Given the description of an element on the screen output the (x, y) to click on. 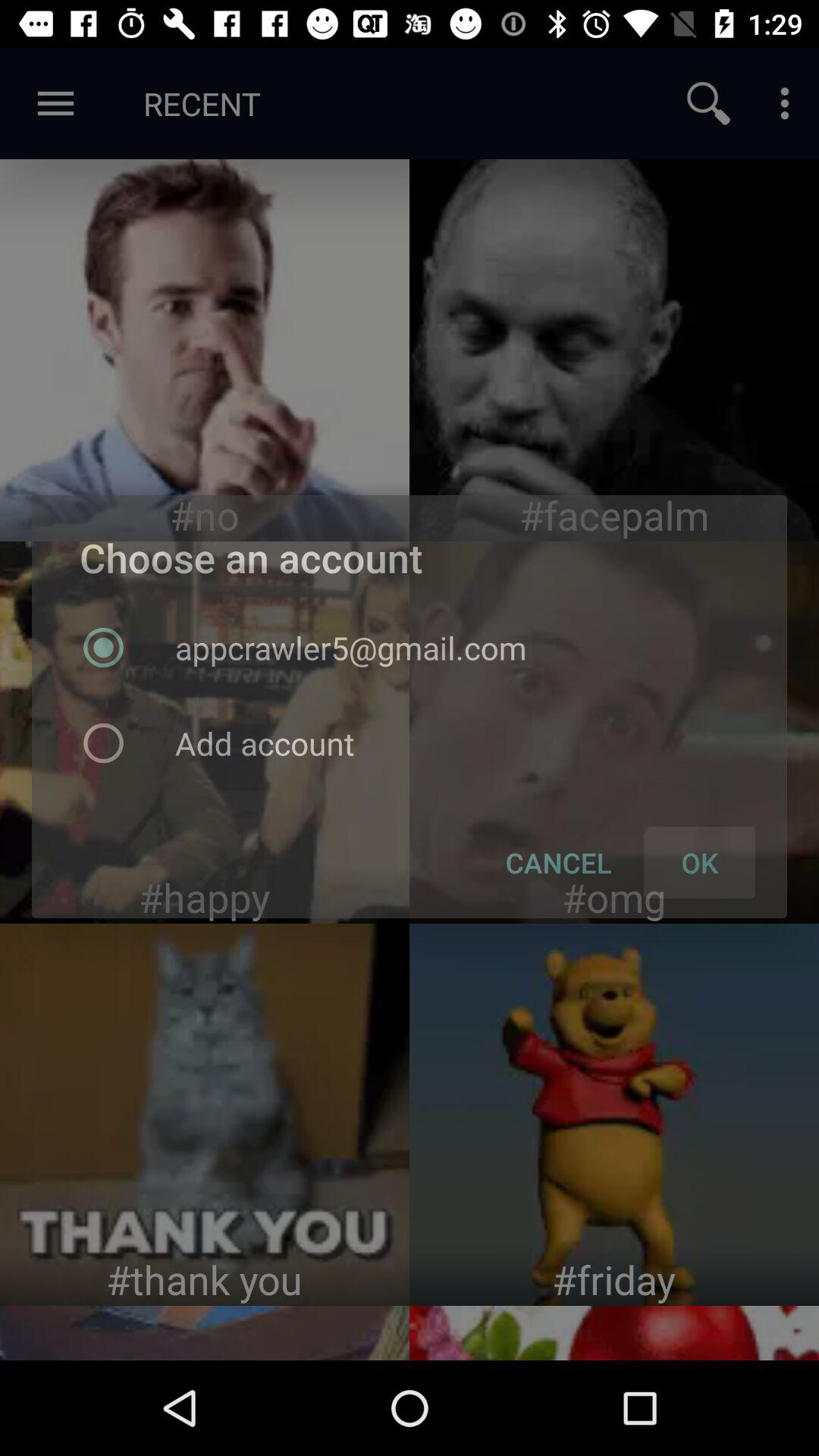
go to image page (204, 350)
